Given the description of an element on the screen output the (x, y) to click on. 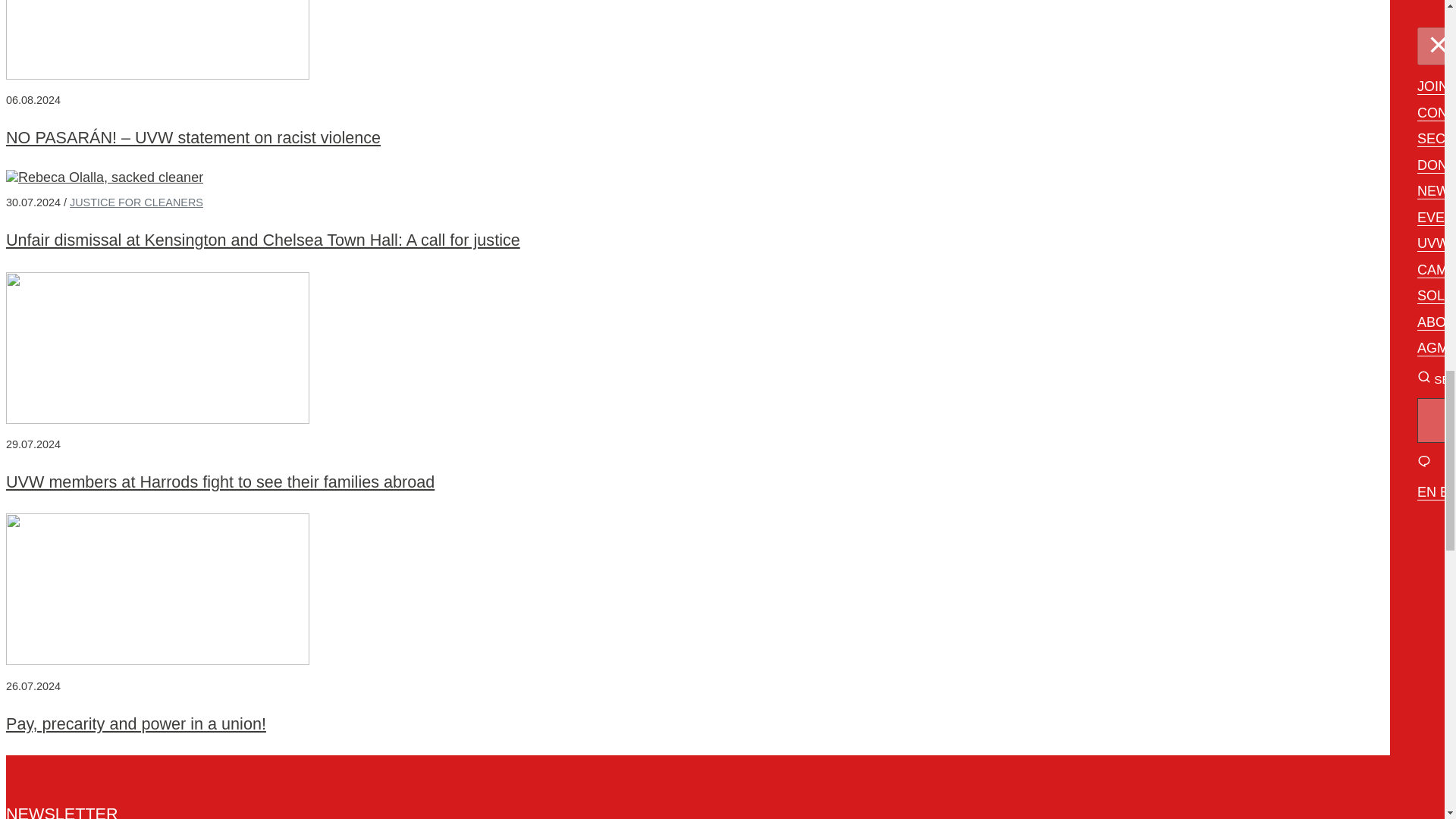
JUSTICE FOR CLEANERS (136, 202)
Pay, precarity and power in a union! (135, 723)
UVW members at Harrods fight to see their families abroad (219, 481)
